Given the description of an element on the screen output the (x, y) to click on. 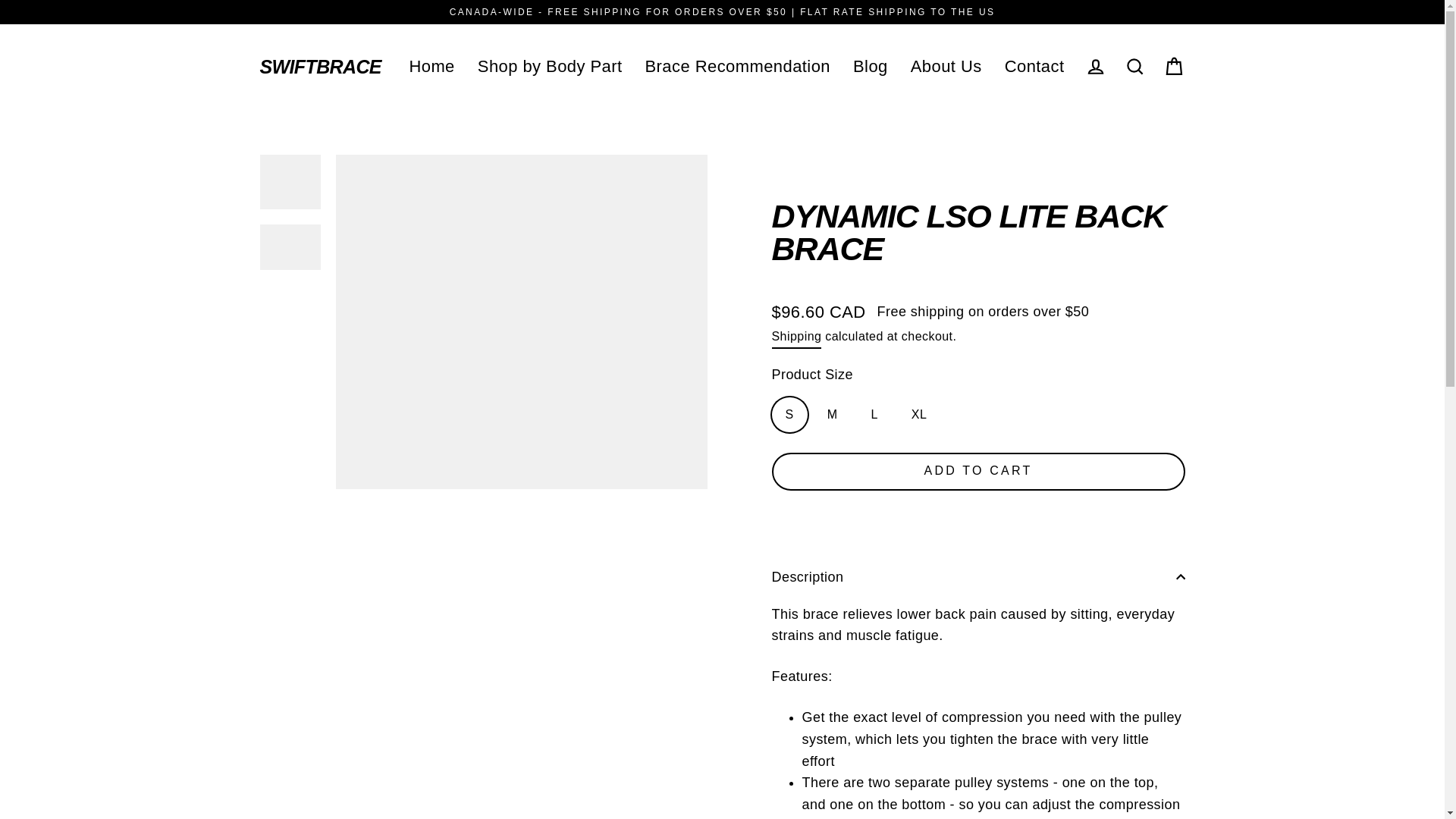
Home (431, 66)
Brace Recommendation (738, 66)
Description (978, 577)
Search (1134, 66)
Log in (1095, 66)
ADD TO CART (978, 471)
Blog (870, 66)
Cart (1173, 66)
Contact (1033, 66)
About Us (945, 66)
SWIFTBRACE (319, 66)
